Given the description of an element on the screen output the (x, y) to click on. 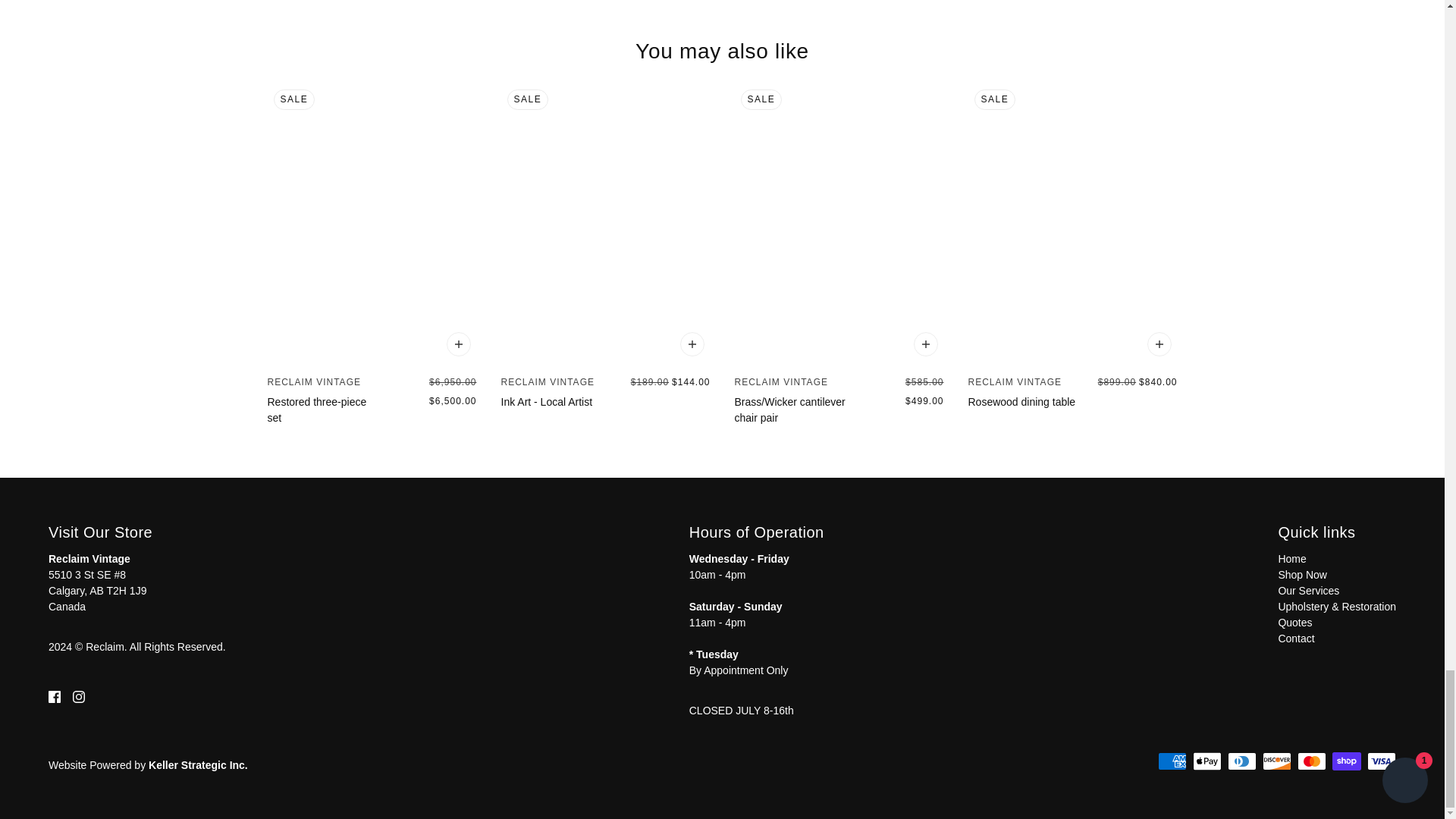
Shop Now (1302, 574)
Contact (1296, 638)
Home (1292, 558)
Discover (1276, 761)
Apple Pay (1206, 761)
Our Services (1308, 590)
Quotes (1294, 622)
American Express (1171, 761)
Diners Club (1241, 761)
